Given the description of an element on the screen output the (x, y) to click on. 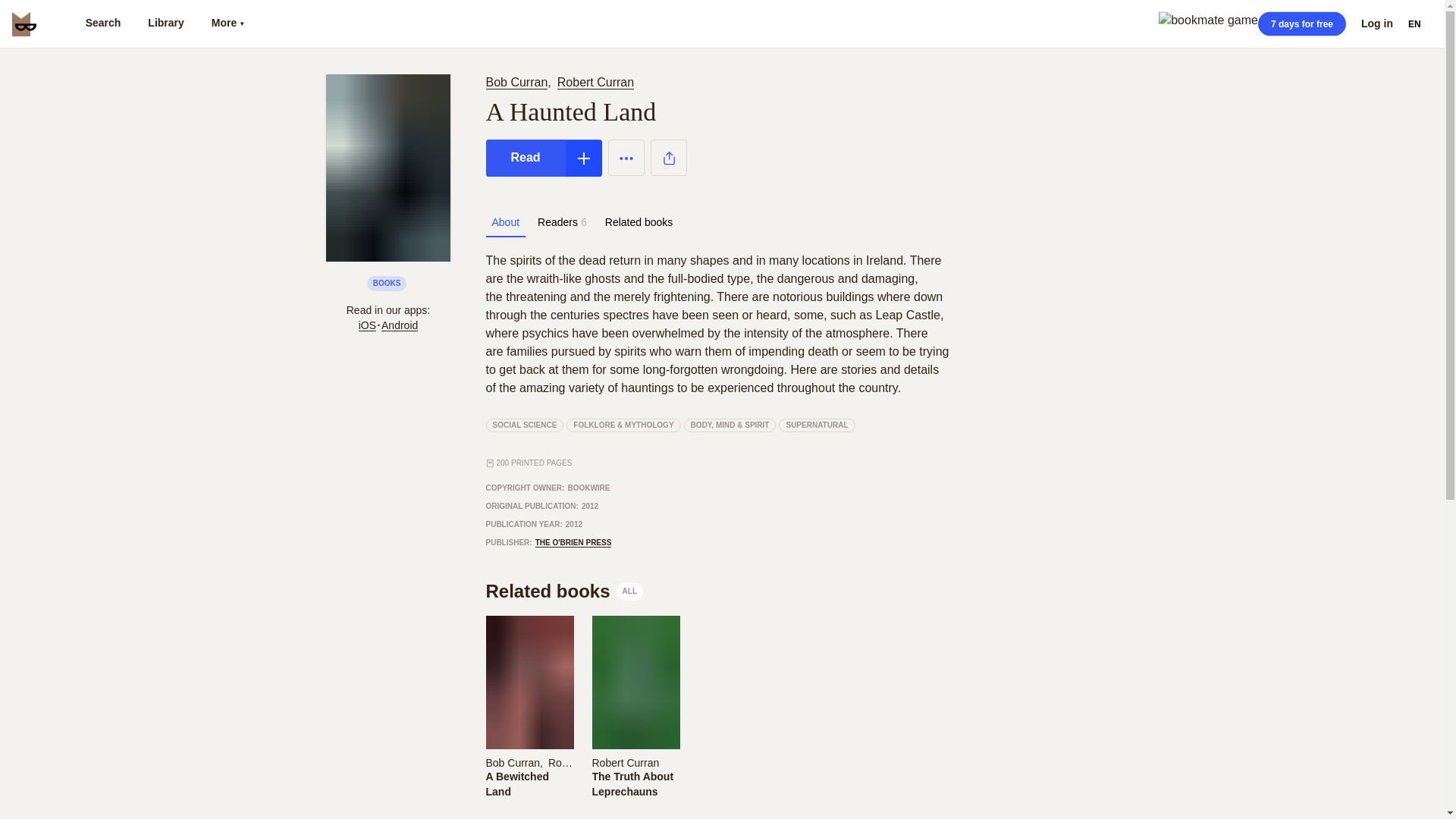
Robert Curran (595, 82)
Related books (638, 222)
Bob Curran (515, 82)
Read (524, 157)
THE O'BRIEN PRESS (573, 542)
The Truth About Leprechauns (634, 784)
Bob Curran, Robert Curran (528, 762)
Robert Curran (634, 762)
7 days for free (1301, 23)
Bob Curran, Robert Curran (562, 82)
Robert Curran (581, 762)
SUPERNATURAL (816, 425)
A Bewitched Land (528, 784)
The Truth About Leprechauns (634, 784)
